Given the description of an element on the screen output the (x, y) to click on. 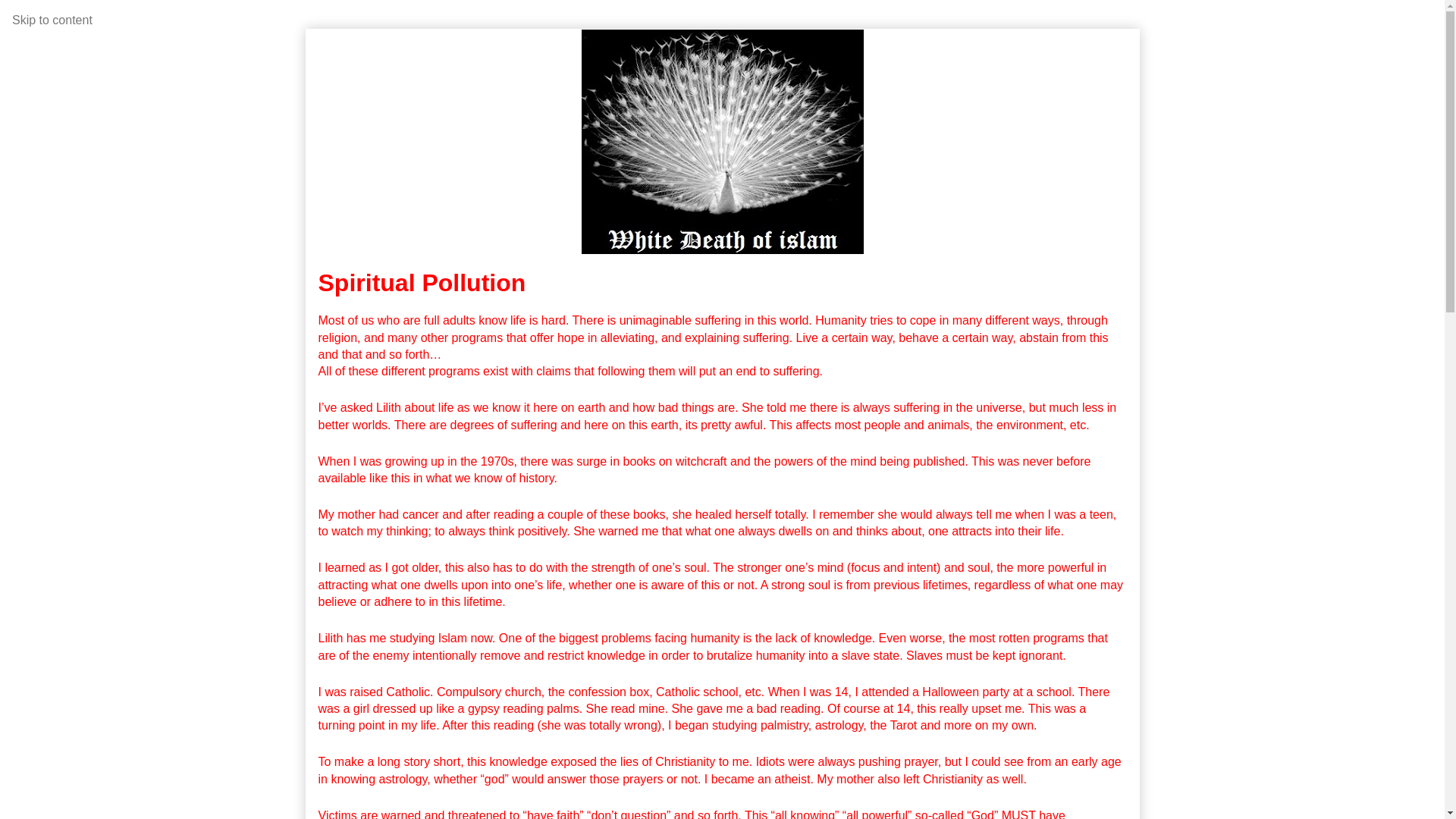
Skip to content (52, 19)
